Given the description of an element on the screen output the (x, y) to click on. 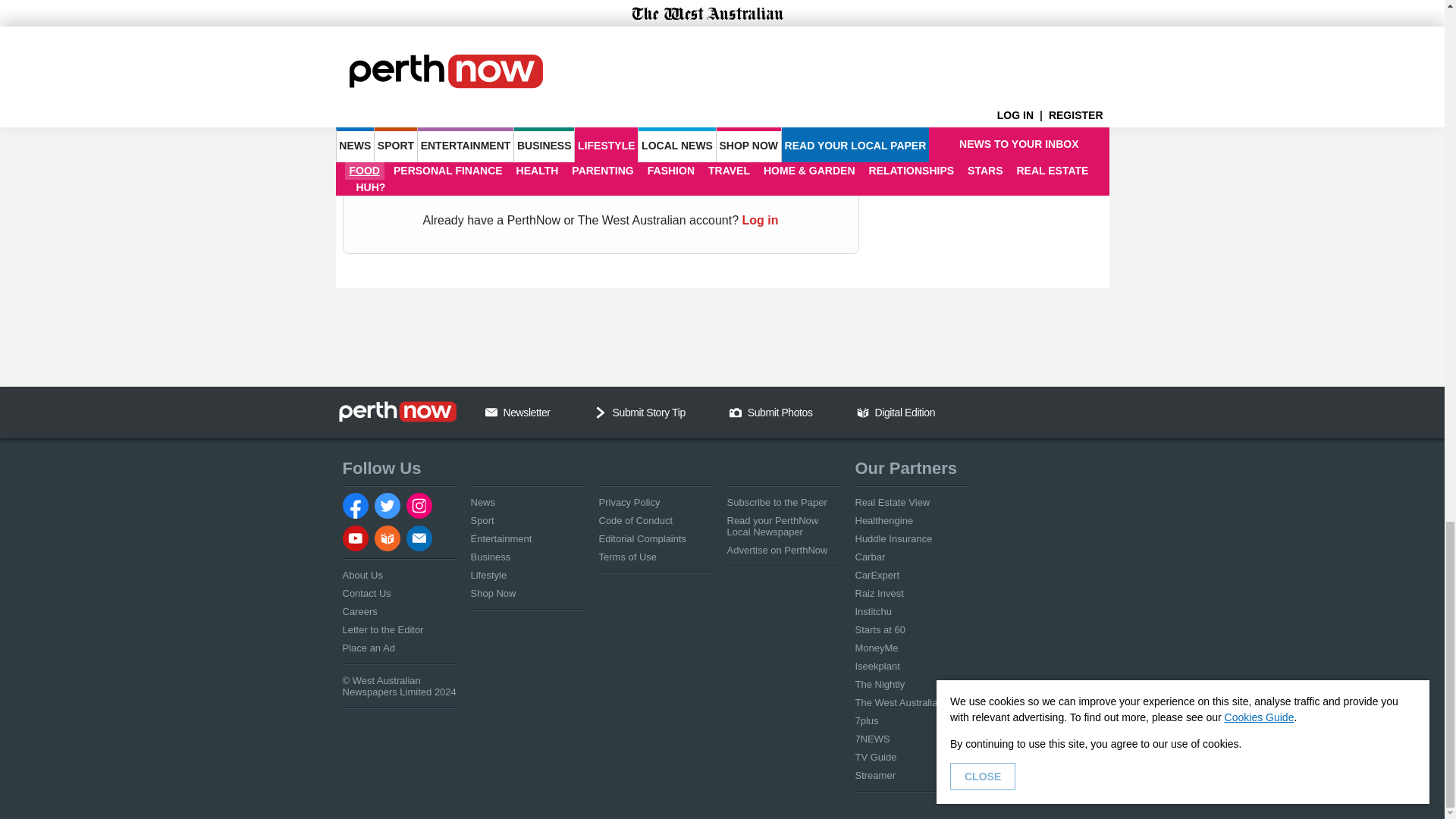
Chevron Down Icon (600, 412)
Email Us (490, 412)
Camera Icon (735, 412)
